Given the description of an element on the screen output the (x, y) to click on. 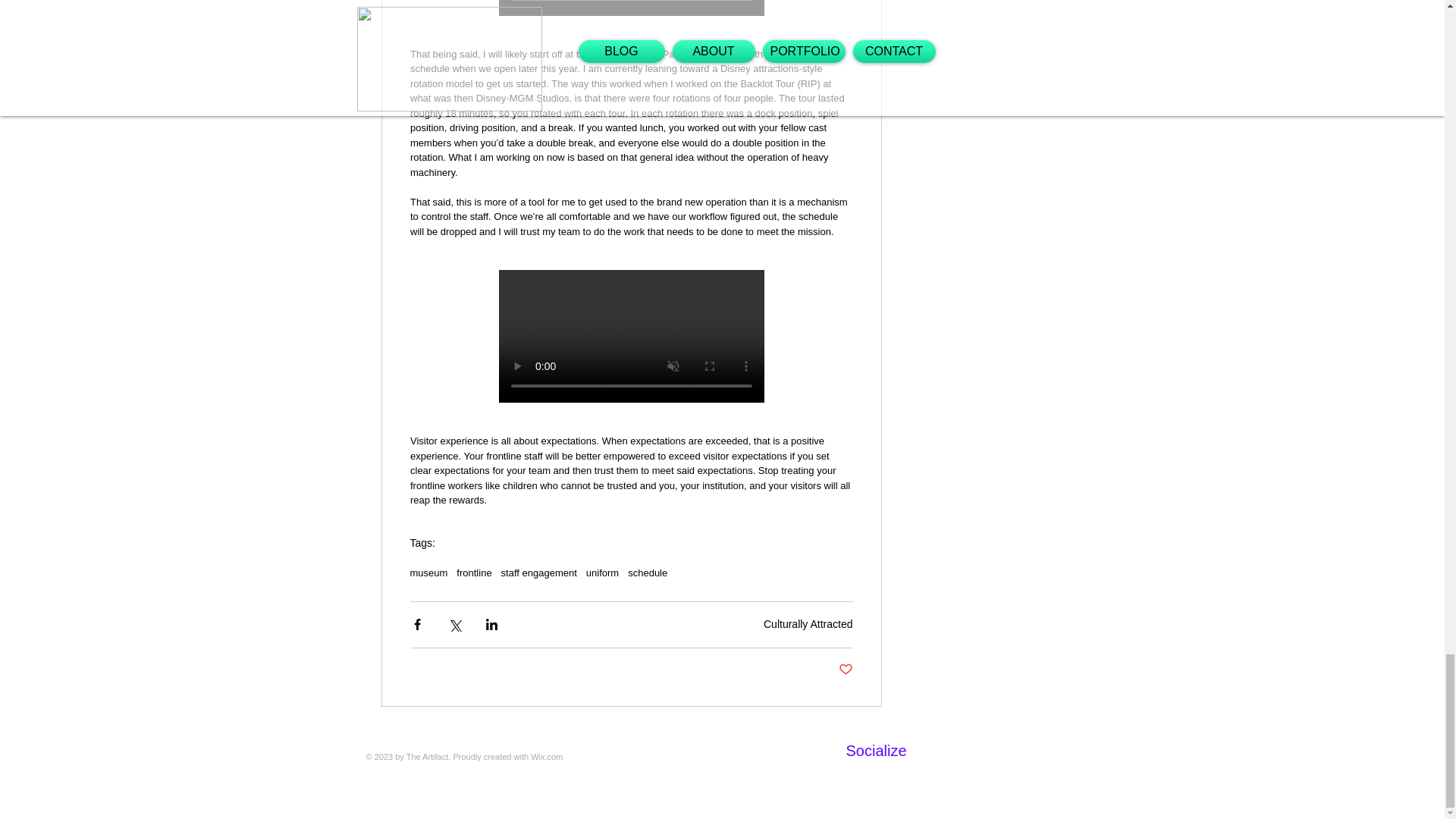
museum (427, 572)
staff engagement (538, 572)
uniform (602, 572)
Culturally Attracted (807, 623)
Post not marked as liked (845, 669)
frontline (474, 572)
schedule (646, 572)
